Given the description of an element on the screen output the (x, y) to click on. 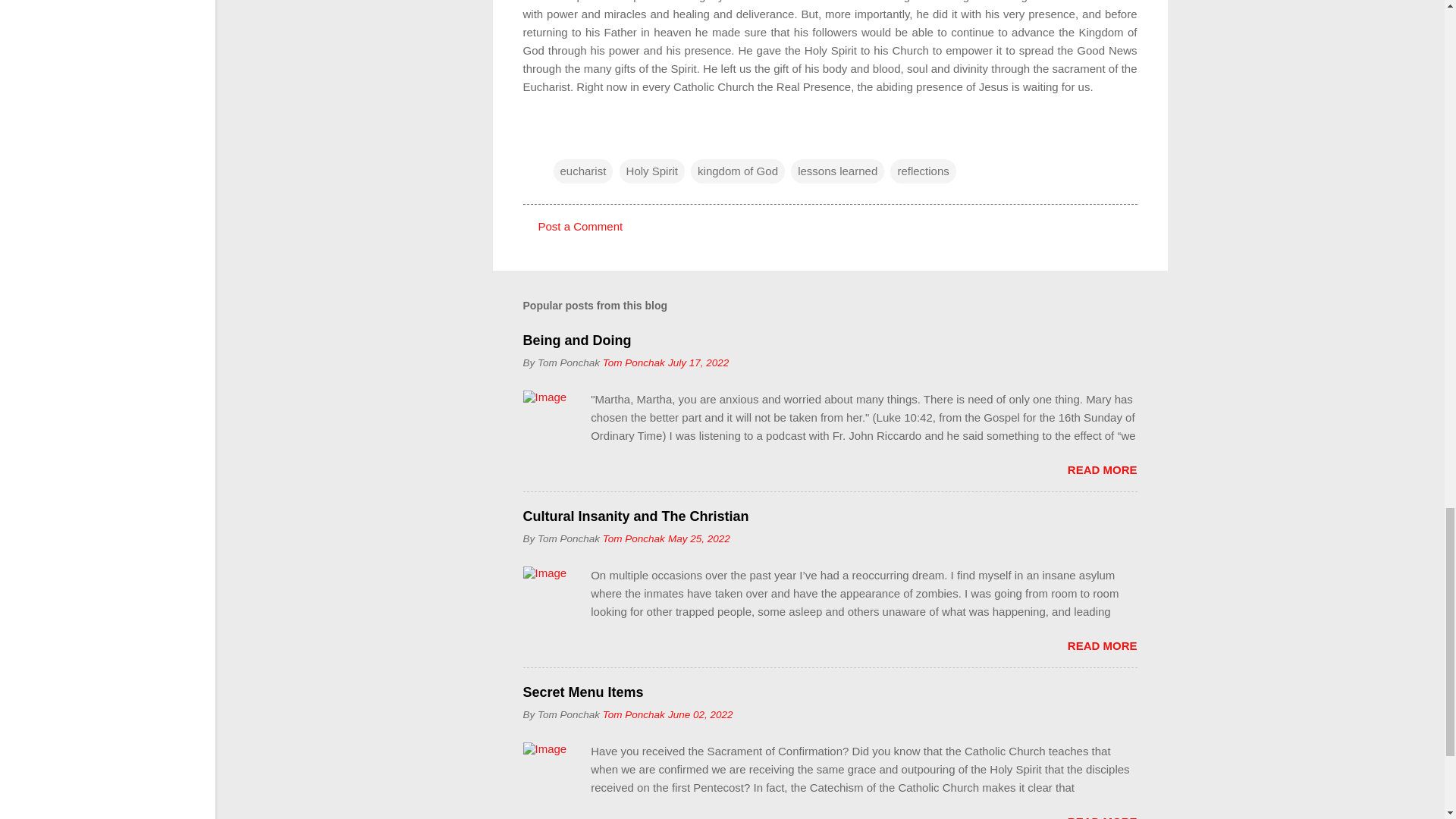
Holy Spirit (652, 170)
READ MORE (1102, 469)
May 25, 2022 (699, 538)
Tom Ponchak (633, 538)
Secret Menu Items (582, 692)
Email Post (562, 139)
kingdom of God (737, 170)
reflections (922, 170)
Post a Comment (580, 226)
lessons learned (836, 170)
